Given the description of an element on the screen output the (x, y) to click on. 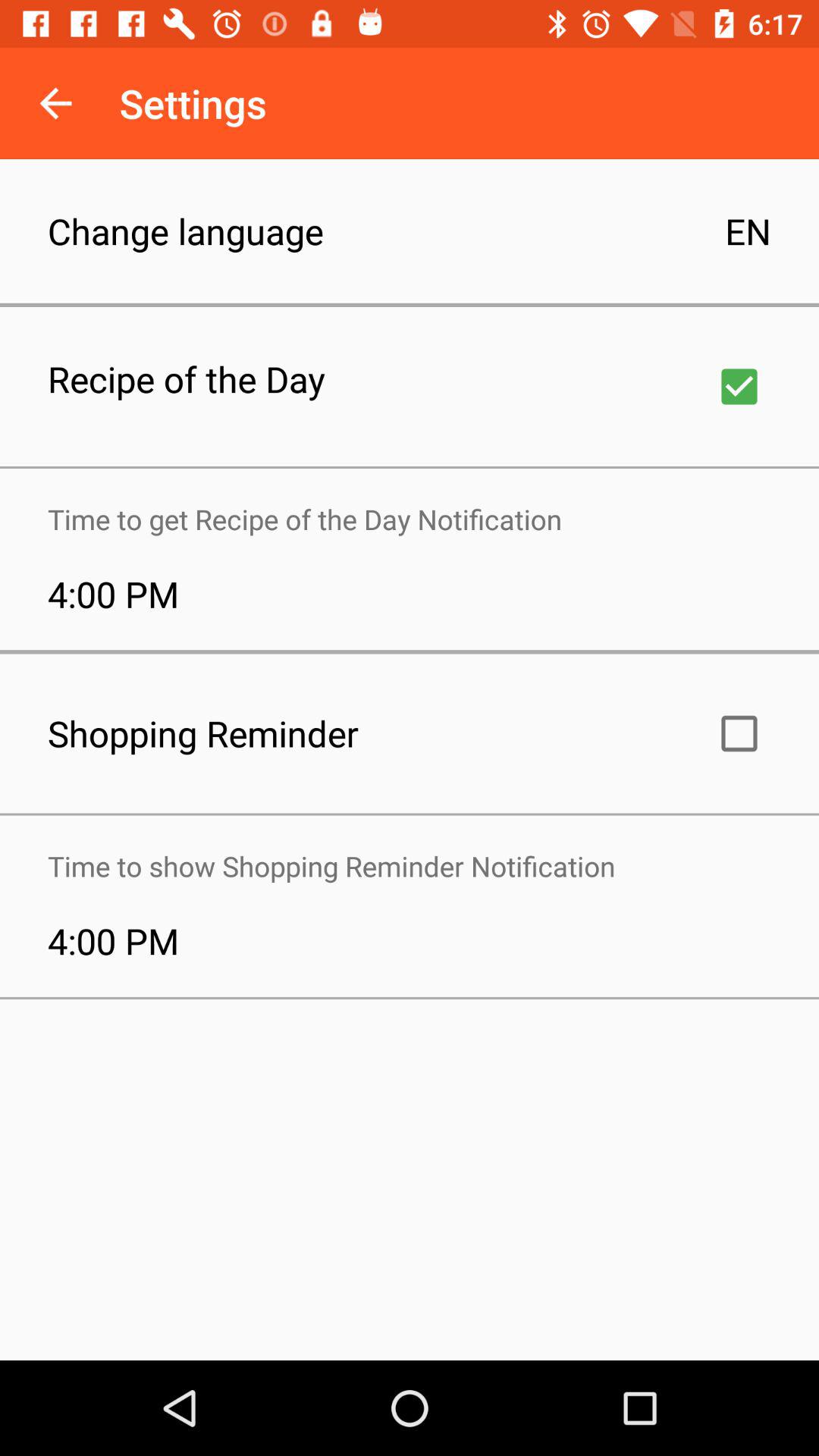
select app to the left of settings app (55, 103)
